Given the description of an element on the screen output the (x, y) to click on. 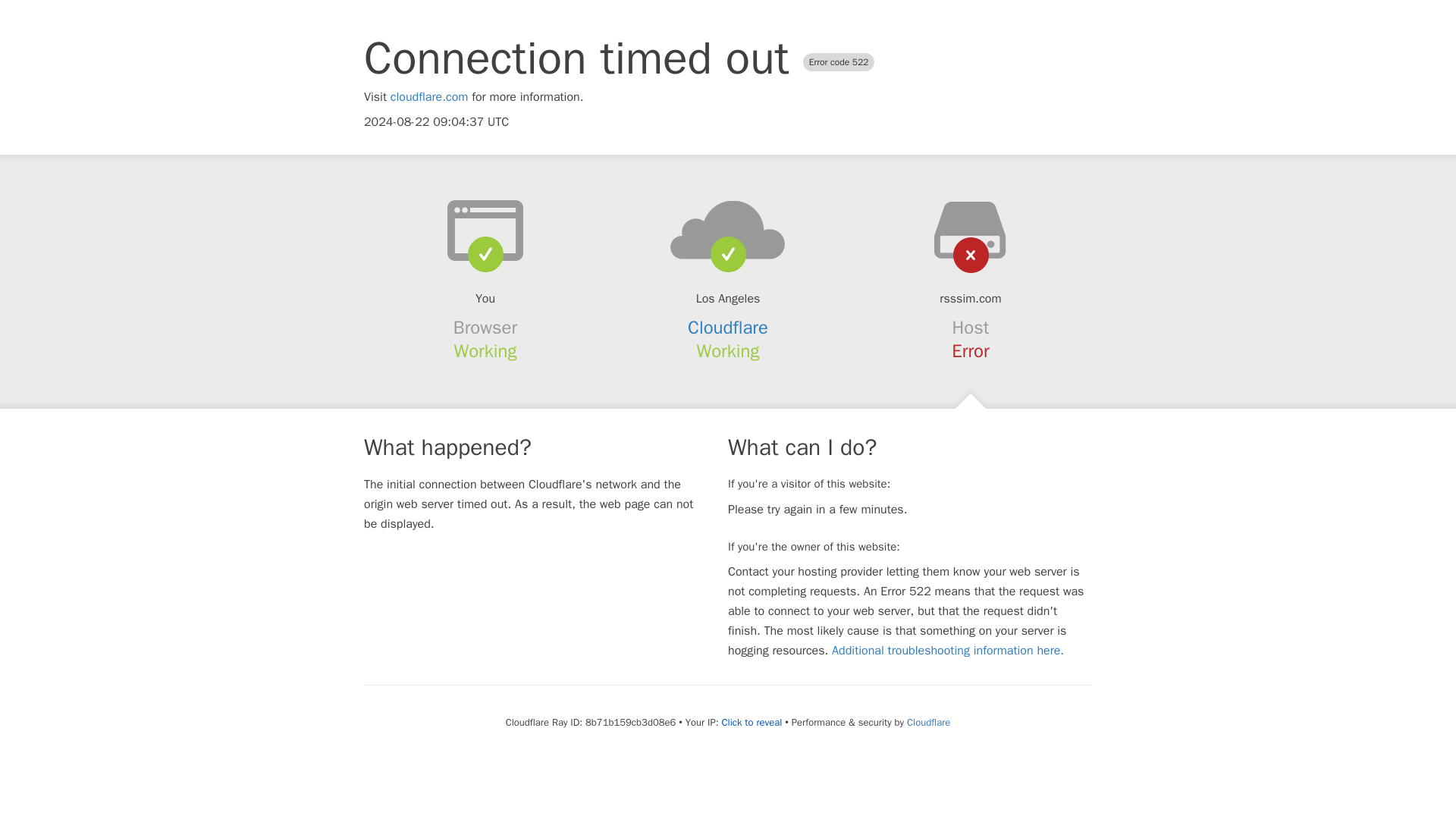
Cloudflare (928, 721)
Additional troubleshooting information here. (947, 650)
Cloudflare (727, 327)
cloudflare.com (429, 96)
Click to reveal (750, 722)
